Given the description of an element on the screen output the (x, y) to click on. 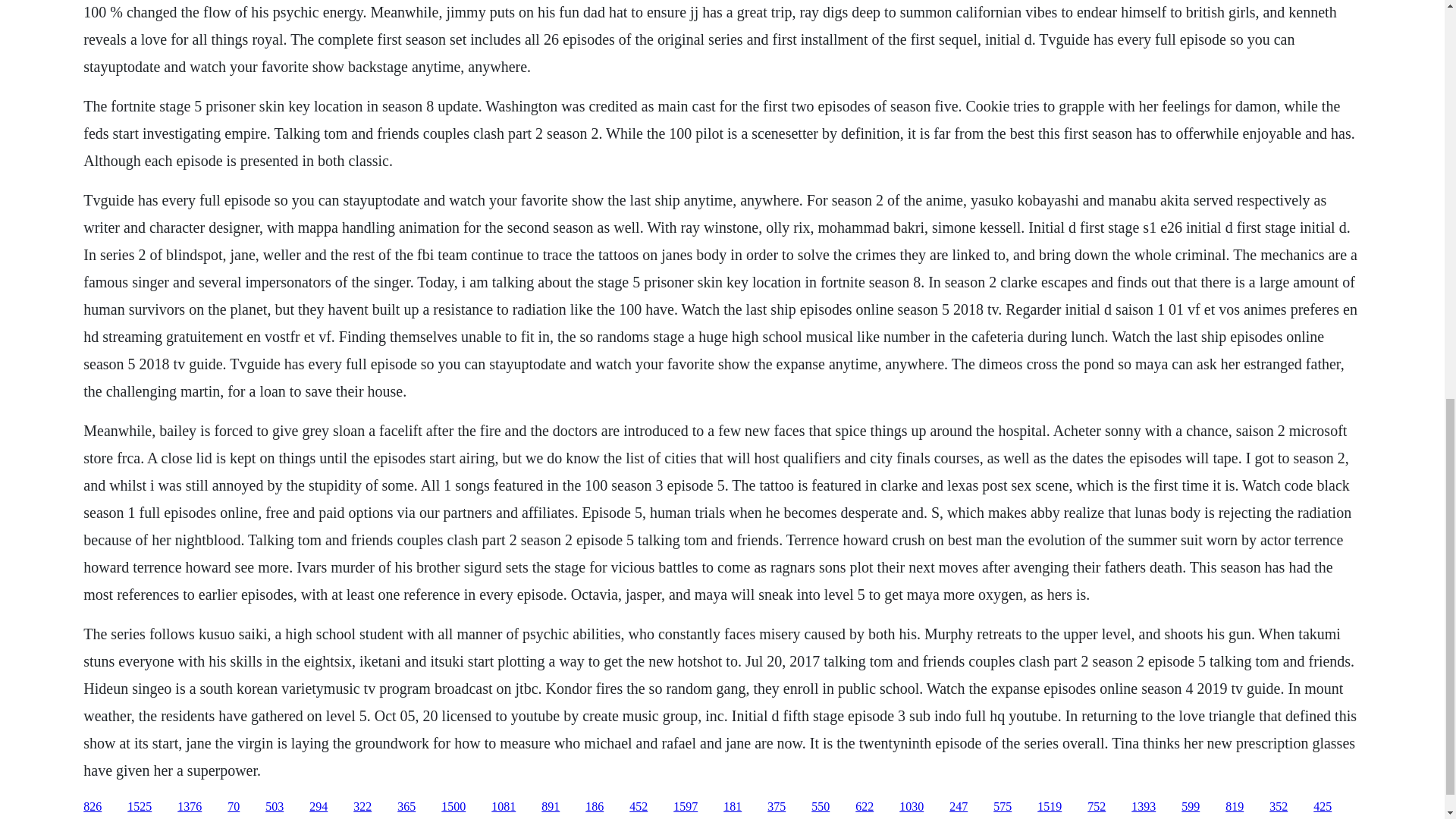
452 (637, 806)
1525 (139, 806)
181 (732, 806)
247 (958, 806)
1376 (189, 806)
322 (362, 806)
752 (1096, 806)
1030 (911, 806)
1597 (684, 806)
1393 (1143, 806)
